Given the description of an element on the screen output the (x, y) to click on. 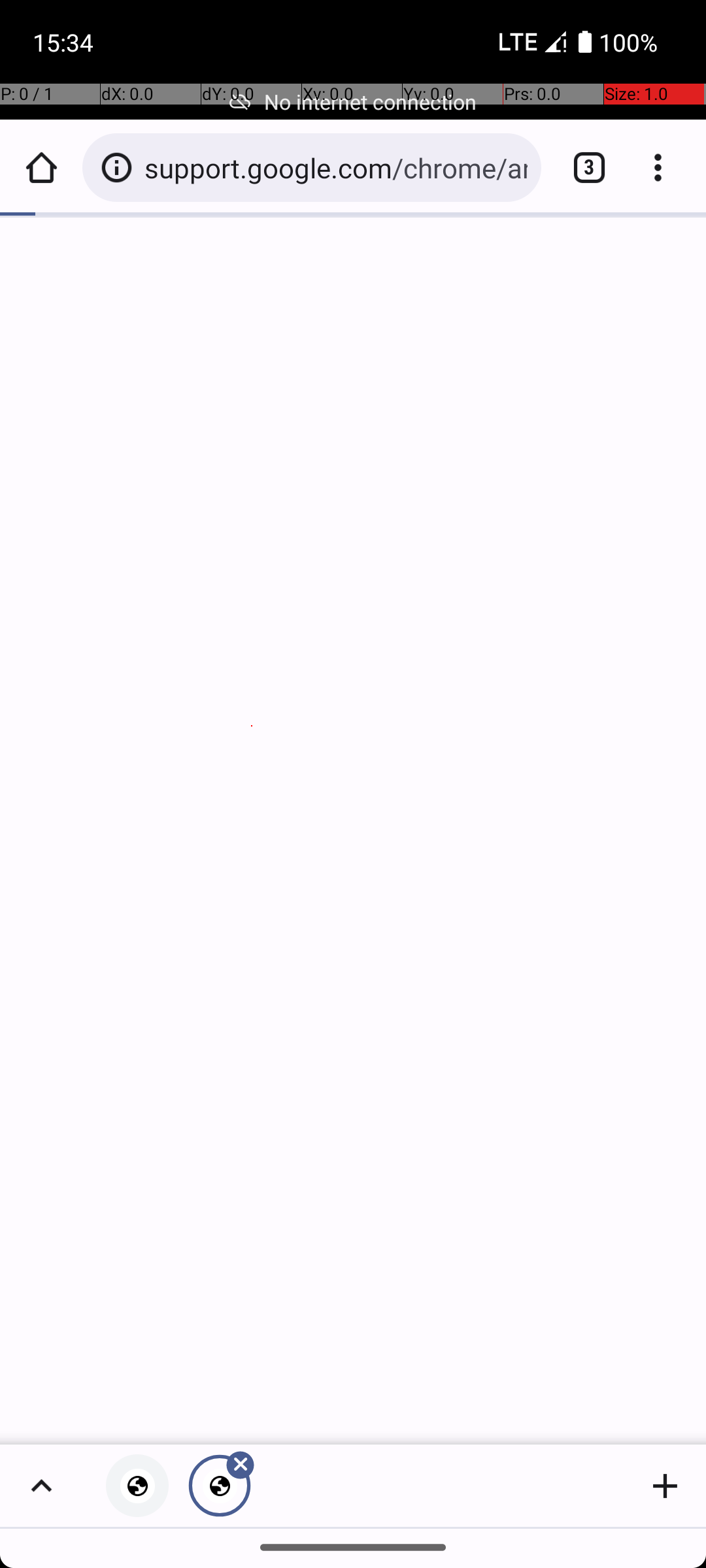
Show group's tabs in fullscreen grid Element type: android.widget.ImageView (41, 1485)
Add new tab to group Element type: android.widget.ImageView (664, 1485)
support.google.com/chrome/answer/6098869#-201 Element type: android.widget.EditText (335, 167)
Privacy error, tab Element type: android.widget.ImageButton (137, 1485)
Close  tab Element type: android.widget.ImageButton (219, 1485)
